Given the description of an element on the screen output the (x, y) to click on. 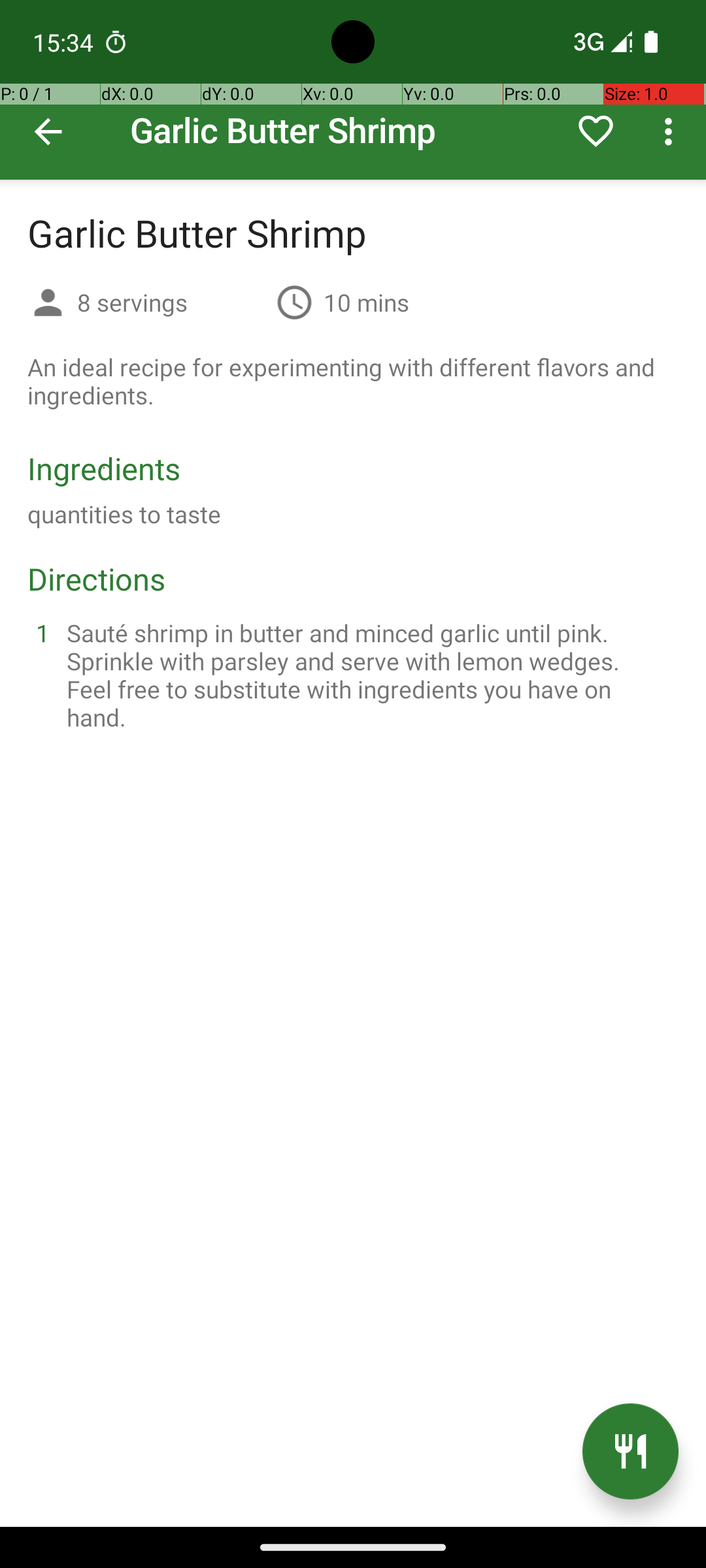
Sauté shrimp in butter and minced garlic until pink. Sprinkle with parsley and serve with lemon wedges. Feel free to substitute with ingredients you have on hand. Element type: android.widget.TextView (368, 674)
